Given the description of an element on the screen output the (x, y) to click on. 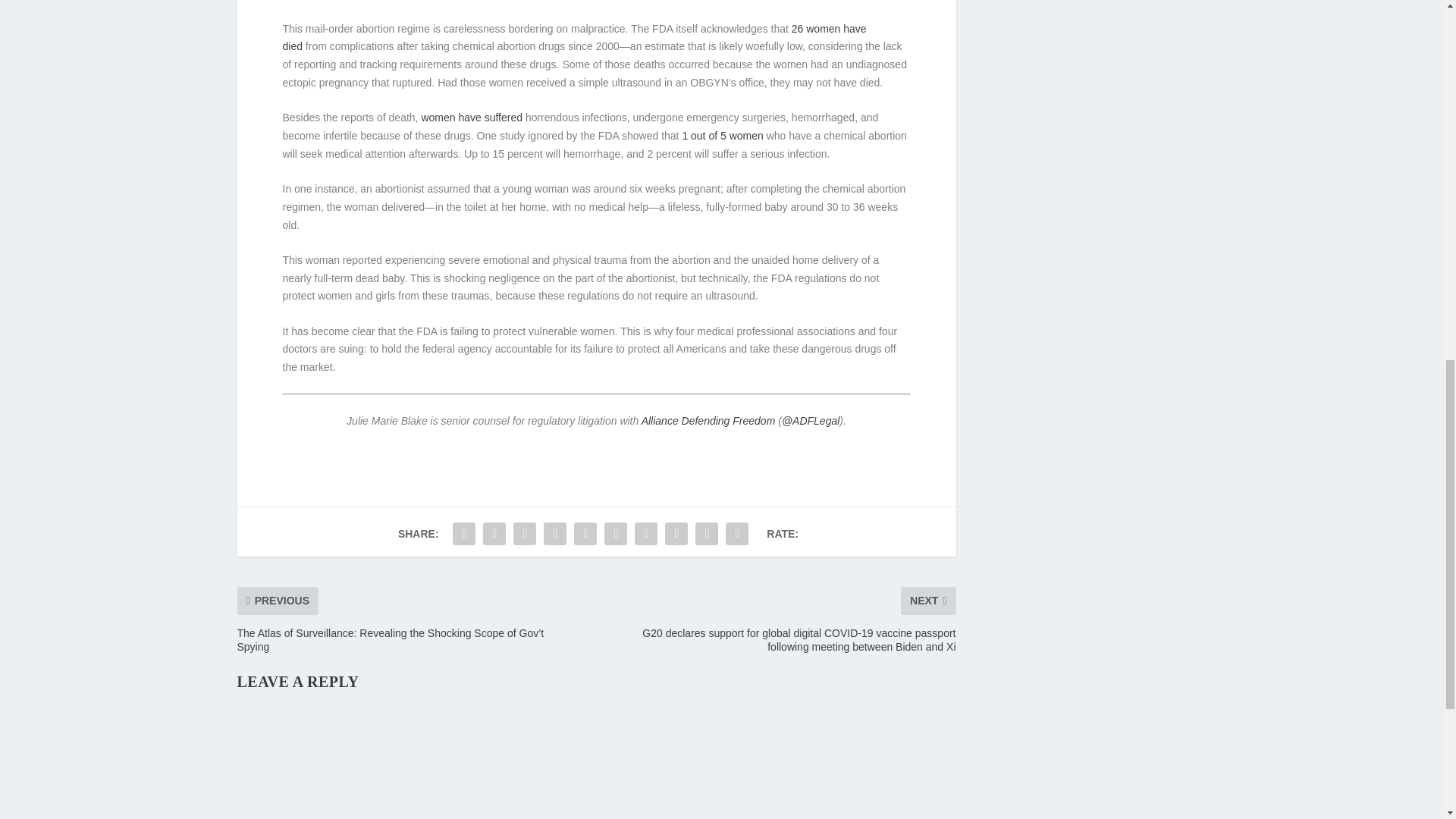
26 women have died (574, 37)
Comment Form (595, 759)
women have suffered (471, 117)
1 out of 5 women (721, 135)
Alliance Defending Freedom (709, 420)
